Given the description of an element on the screen output the (x, y) to click on. 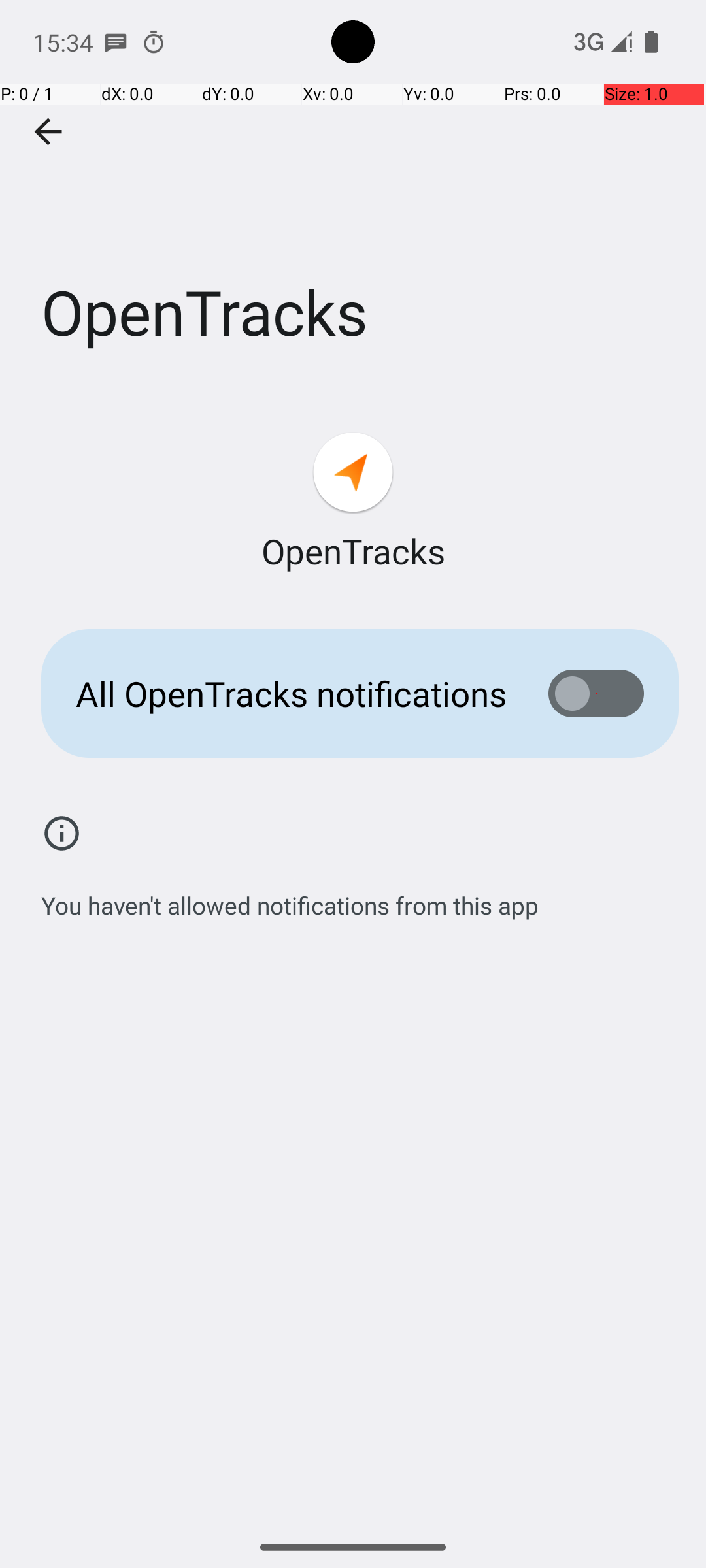
All OpenTracks notifications Element type: android.widget.TextView (291, 693)
